Given the description of an element on the screen output the (x, y) to click on. 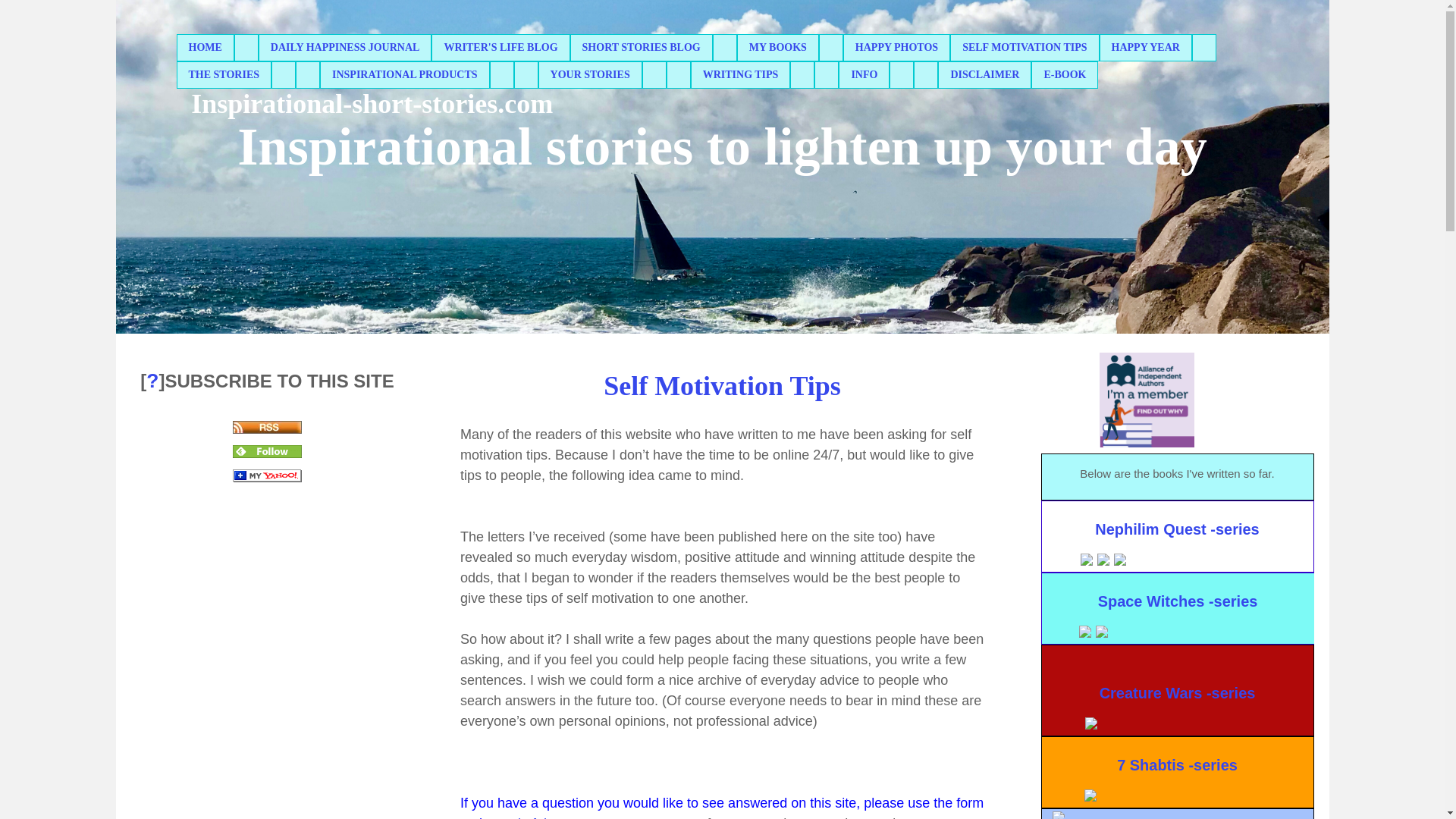
HAPPY YEAR (1145, 47)
end of the page (544, 817)
HOME (204, 47)
DAILY HAPPINESS JOURNAL (344, 47)
WRITER'S LIFE BLOG (500, 47)
E-BOOK (1064, 74)
Inspirational-short-stories.com (372, 104)
HAPPY PHOTOS (896, 47)
SHORT STORIES BLOG (640, 47)
SELF MOTIVATION TIPS (1023, 47)
DISCLAIMER (984, 74)
